Given the description of an element on the screen output the (x, y) to click on. 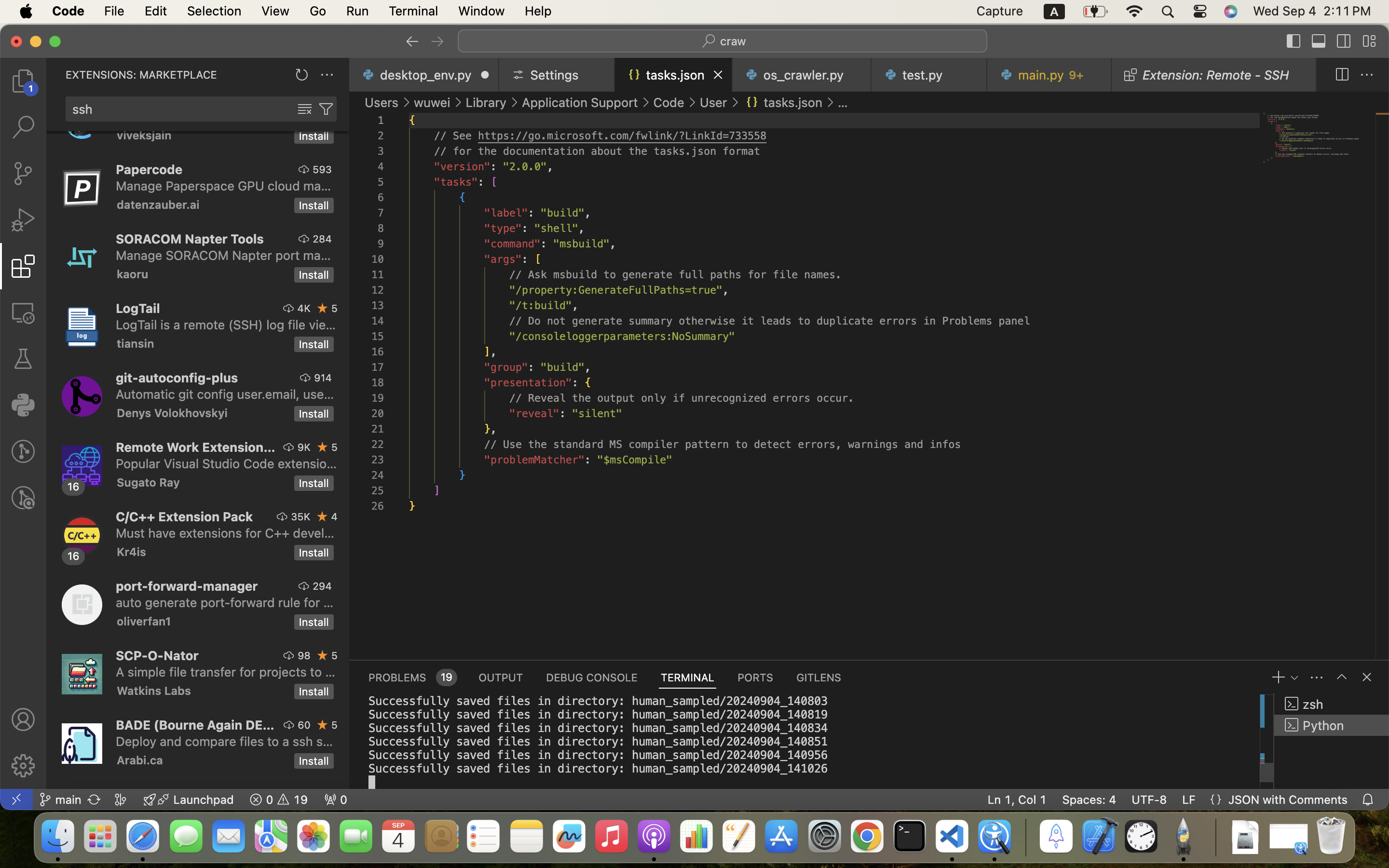
0.4285714328289032 Element type: AXDockItem (1024, 836)
 Element type: AXCheckBox (1341, 676)
 Element type: AXButton (412, 41)
Manage SORACOM Napter port mappings from Visual Studio Code. Element type: AXStaticText (222, 254)
Popular Visual Studio Code extensions for Remote Work Element type: AXStaticText (226, 463)
